Given the description of an element on the screen output the (x, y) to click on. 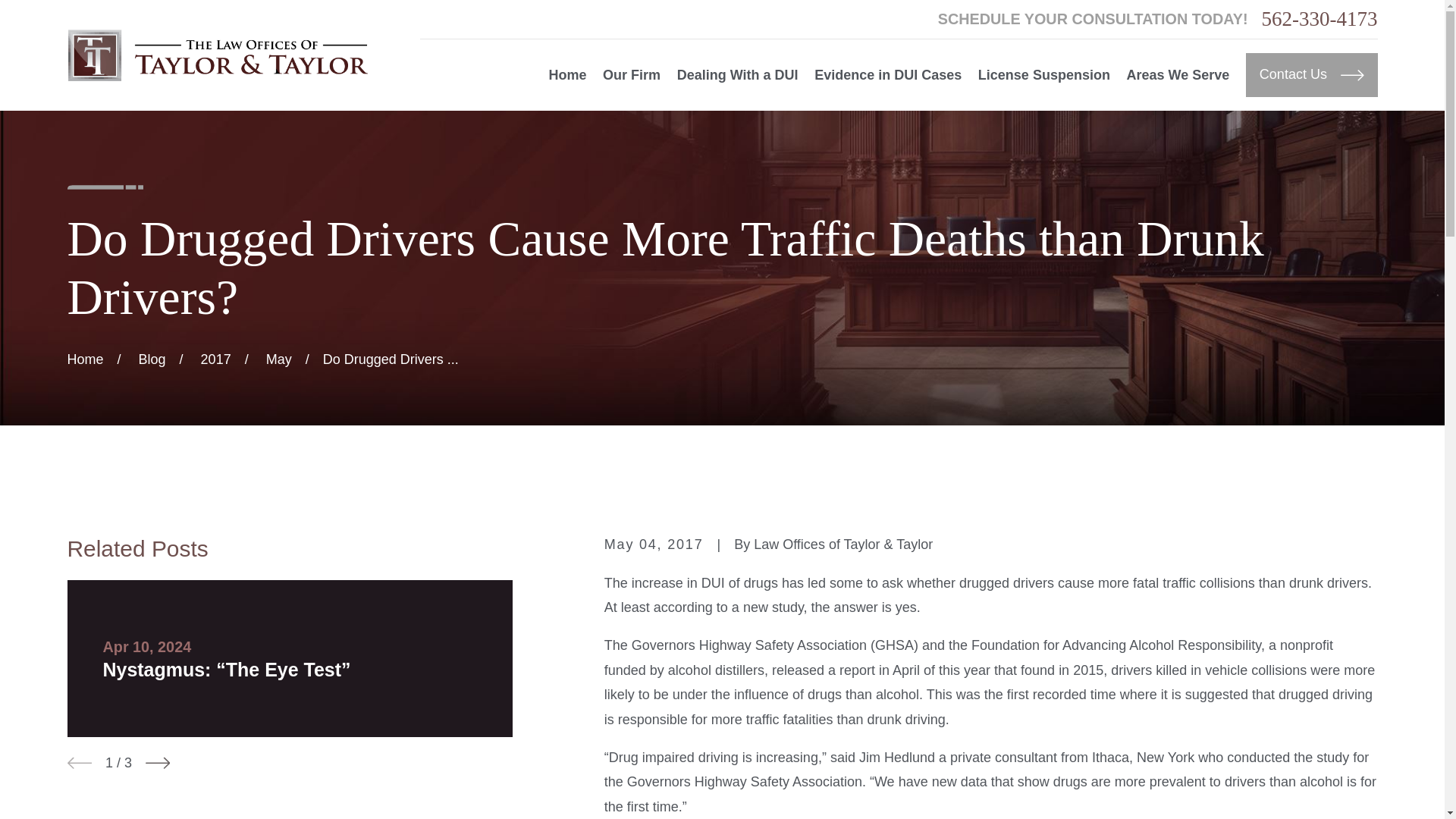
Dealing With a DUI (737, 75)
Our Firm (631, 75)
View previous item (78, 762)
562-330-4173 (1319, 19)
View next item (157, 762)
Evidence in DUI Cases (886, 75)
Go Home (84, 359)
Home (217, 55)
